Given the description of an element on the screen output the (x, y) to click on. 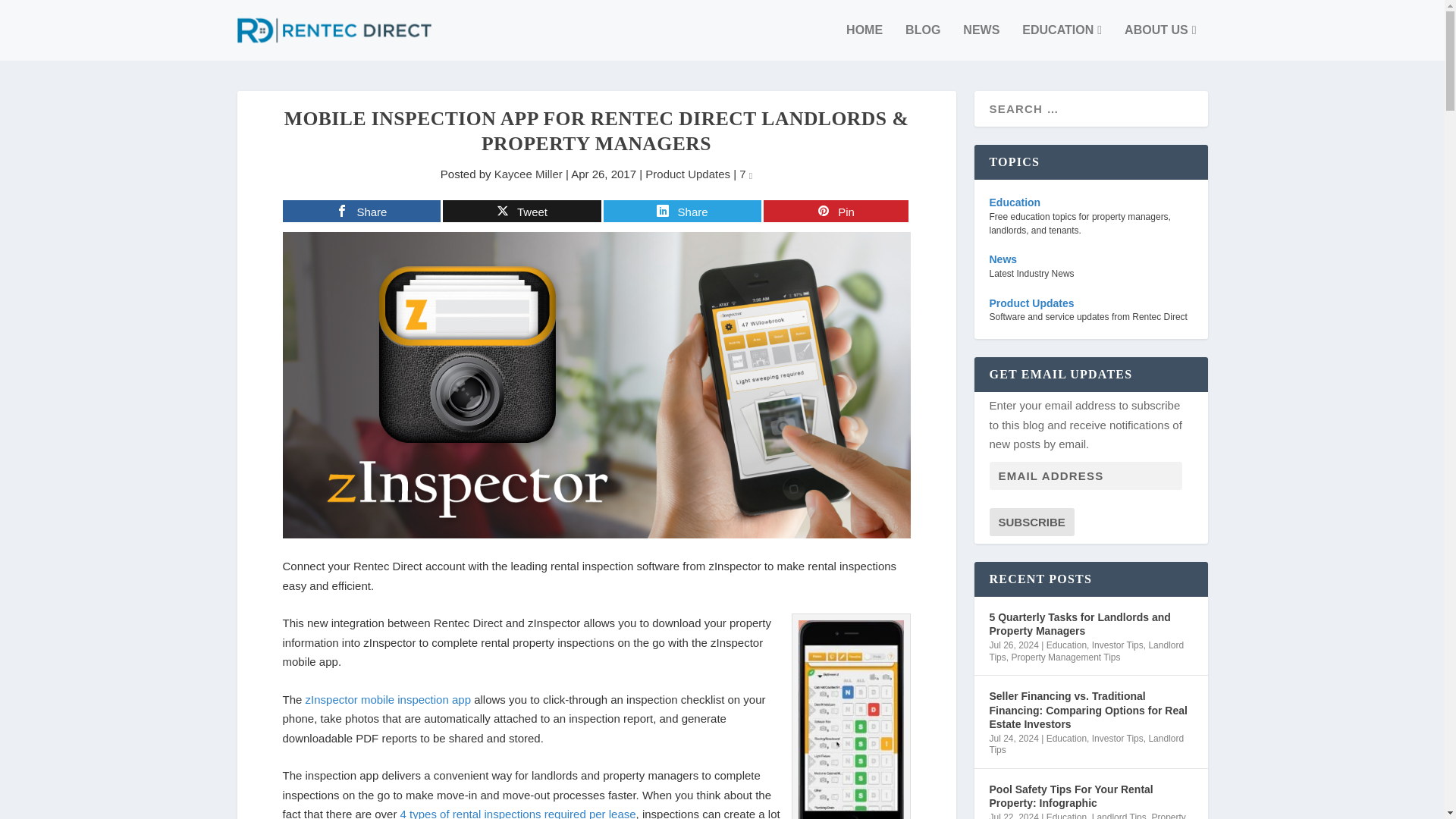
EDUCATION (1062, 42)
Posts by Kaycee Miller (528, 173)
NEWS (980, 42)
BLOG (922, 42)
ABOUT US (1159, 42)
HOME (863, 42)
